Given the description of an element on the screen output the (x, y) to click on. 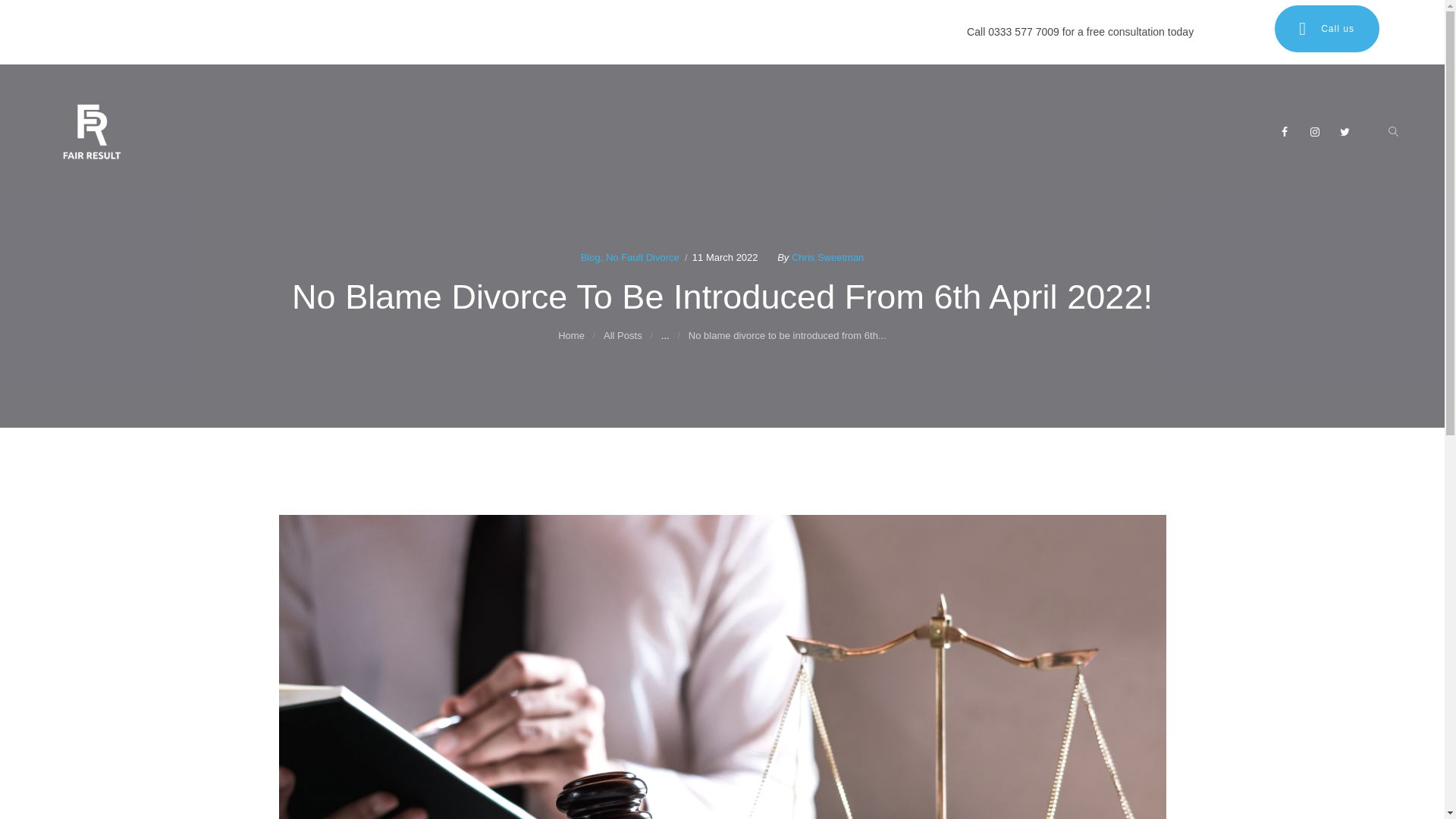
No Fault Divorce (642, 256)
Blog (589, 256)
Call us (1326, 28)
All Posts (623, 335)
Home (571, 335)
11 March 2022 (725, 256)
Chris Sweetman (827, 256)
